Given the description of an element on the screen output the (x, y) to click on. 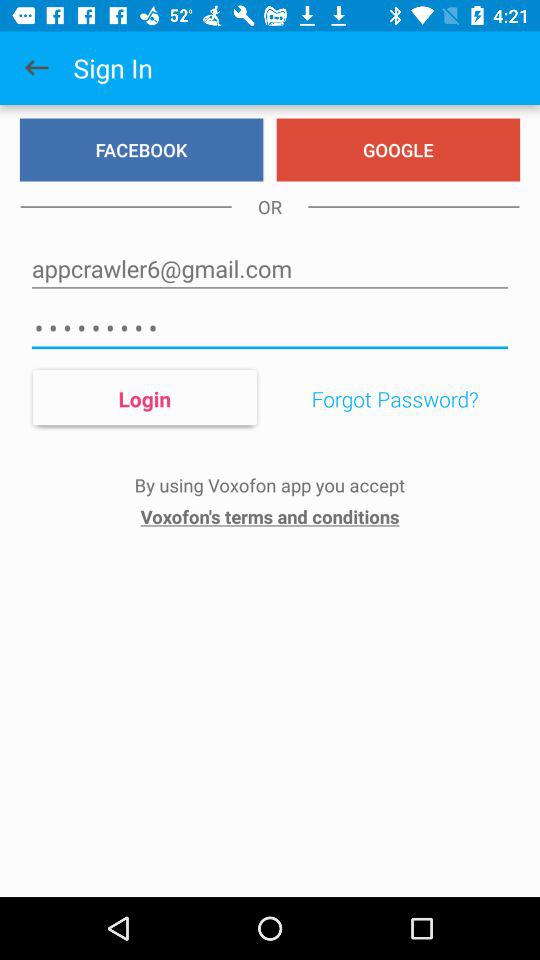
launch icon below appcrawler6@gmail.com item (269, 328)
